Given the description of an element on the screen output the (x, y) to click on. 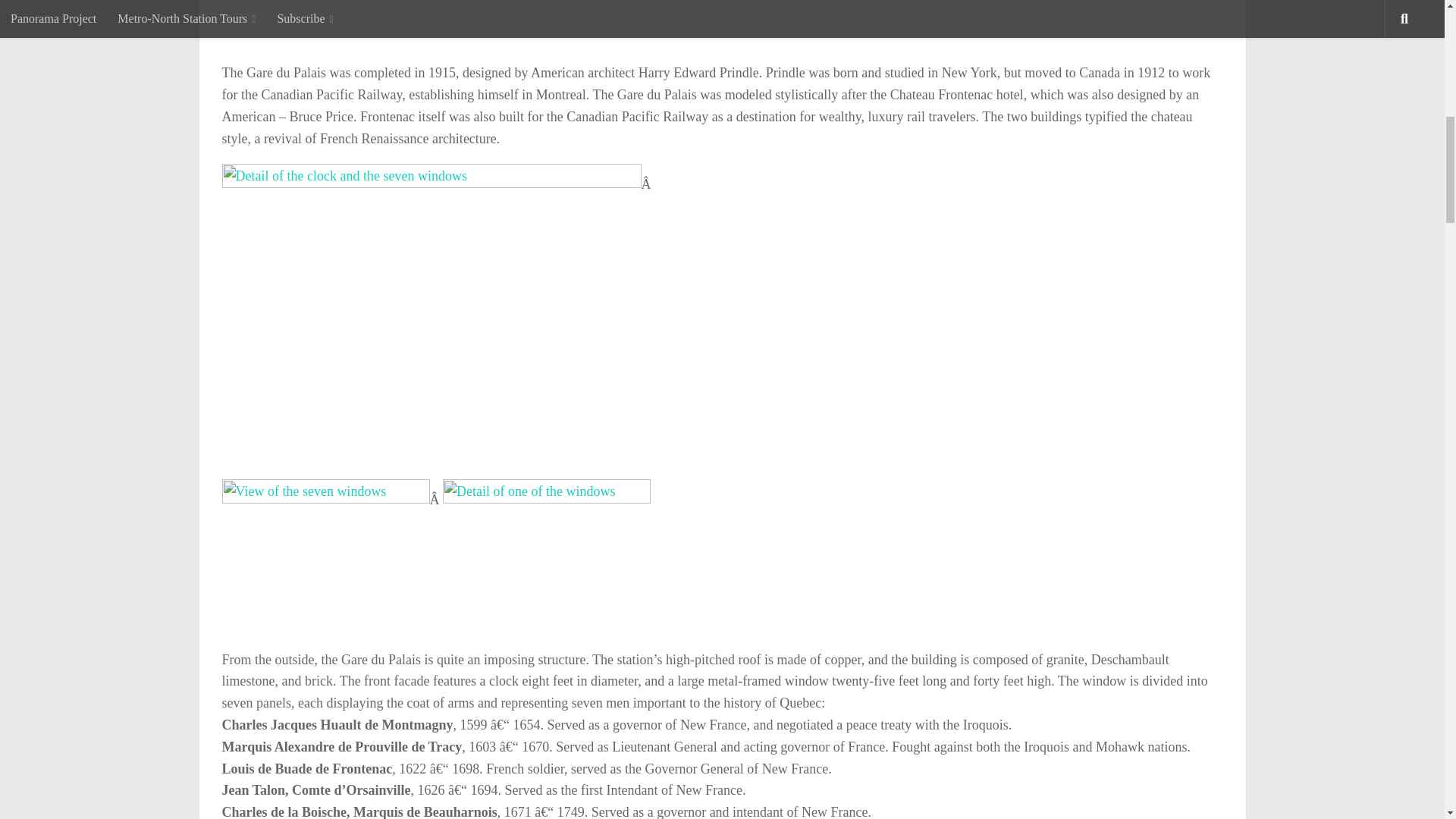
Front of the Gare du Palais (430, 24)
View of the seven windows (325, 557)
Detail of the clock and the seven windows (430, 321)
Detail of one of the windows (546, 557)
